Given the description of an element on the screen output the (x, y) to click on. 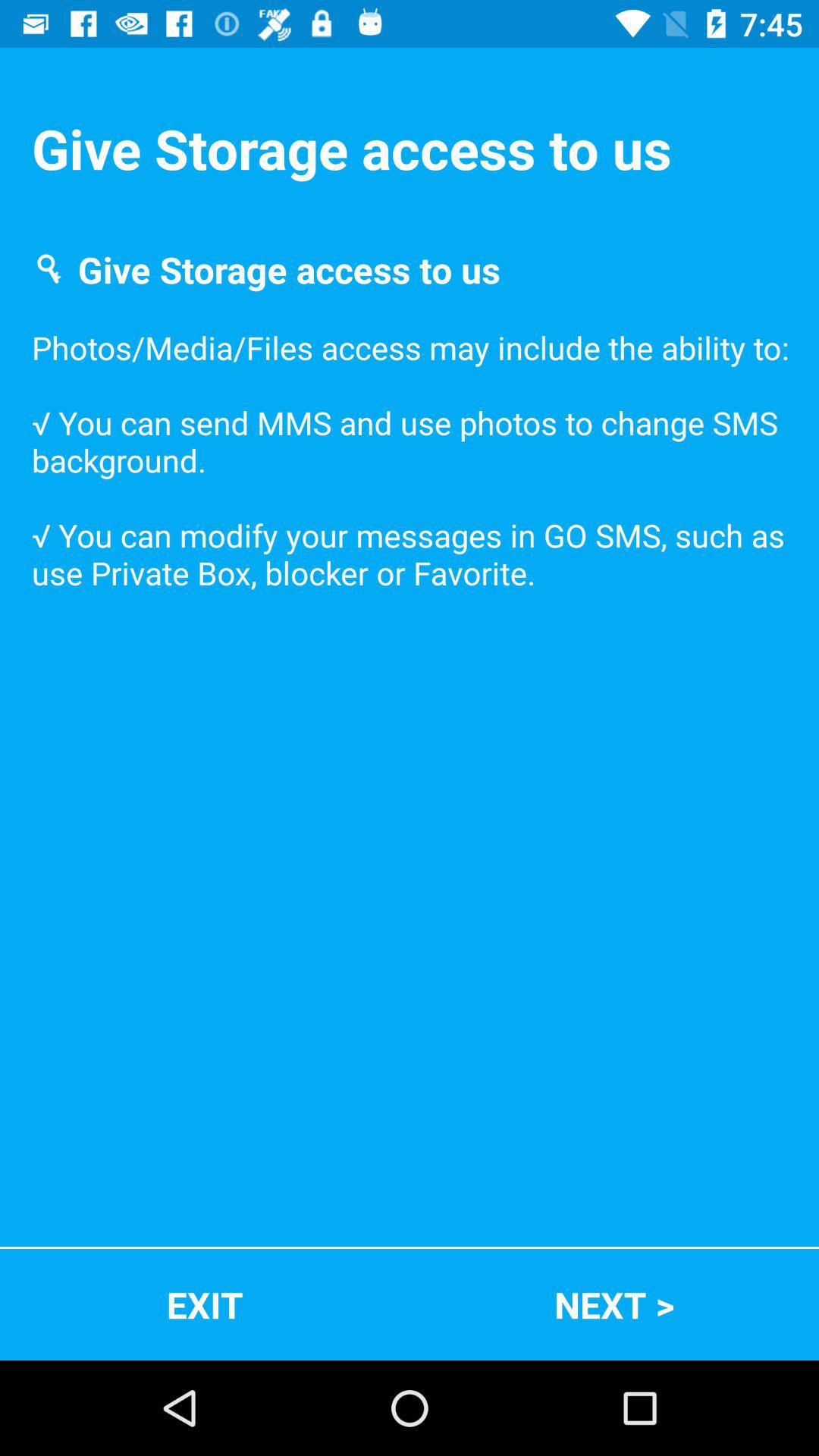
choose the item at the bottom right corner (614, 1304)
